Given the description of an element on the screen output the (x, y) to click on. 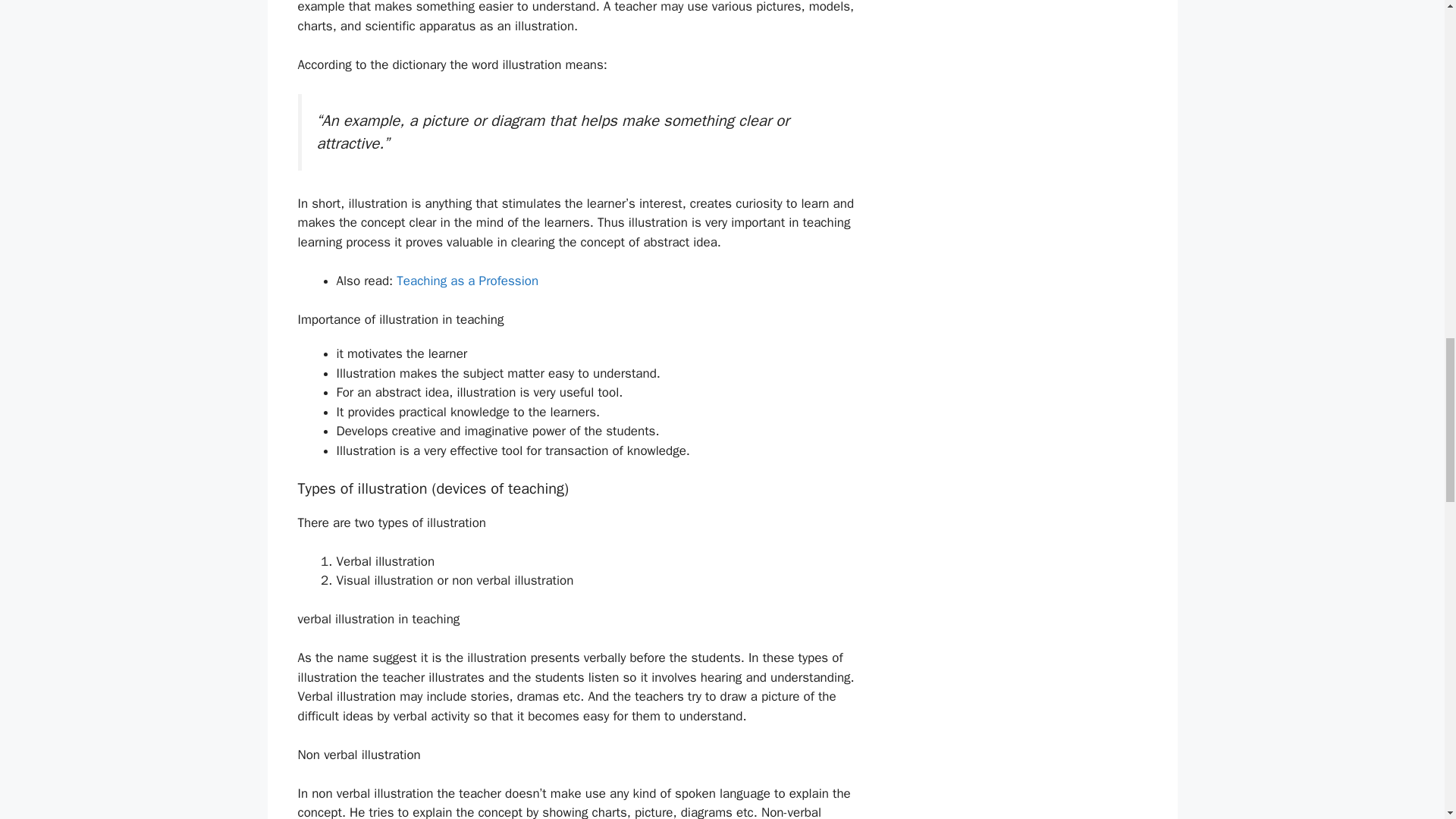
Teaching as a Profession (467, 280)
